Given the description of an element on the screen output the (x, y) to click on. 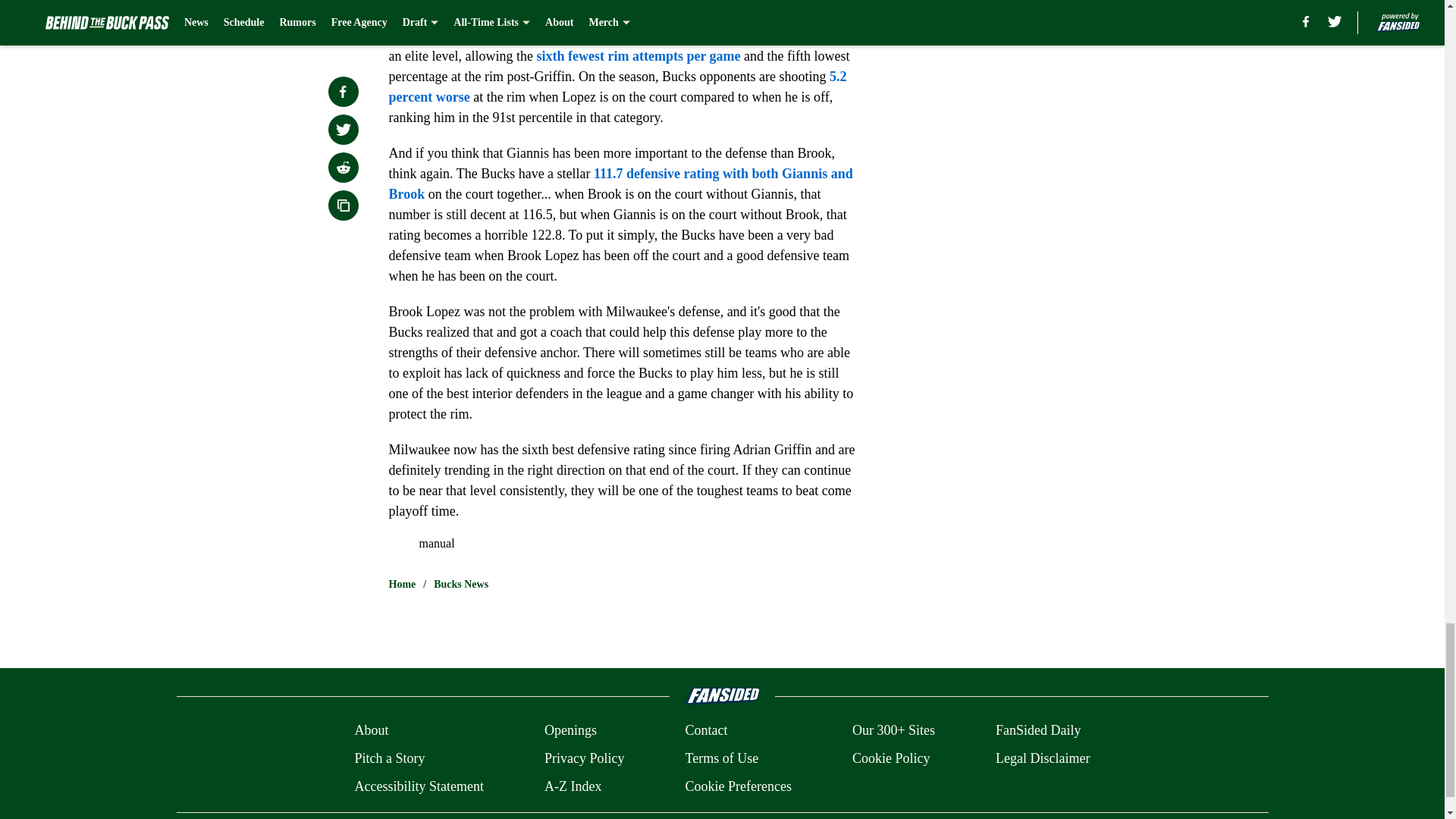
111.7 defensive rating with both Giannis and Brook (619, 183)
5.2 percent worse (616, 86)
sixth fewest rim attempts per game (637, 55)
